Given the description of an element on the screen output the (x, y) to click on. 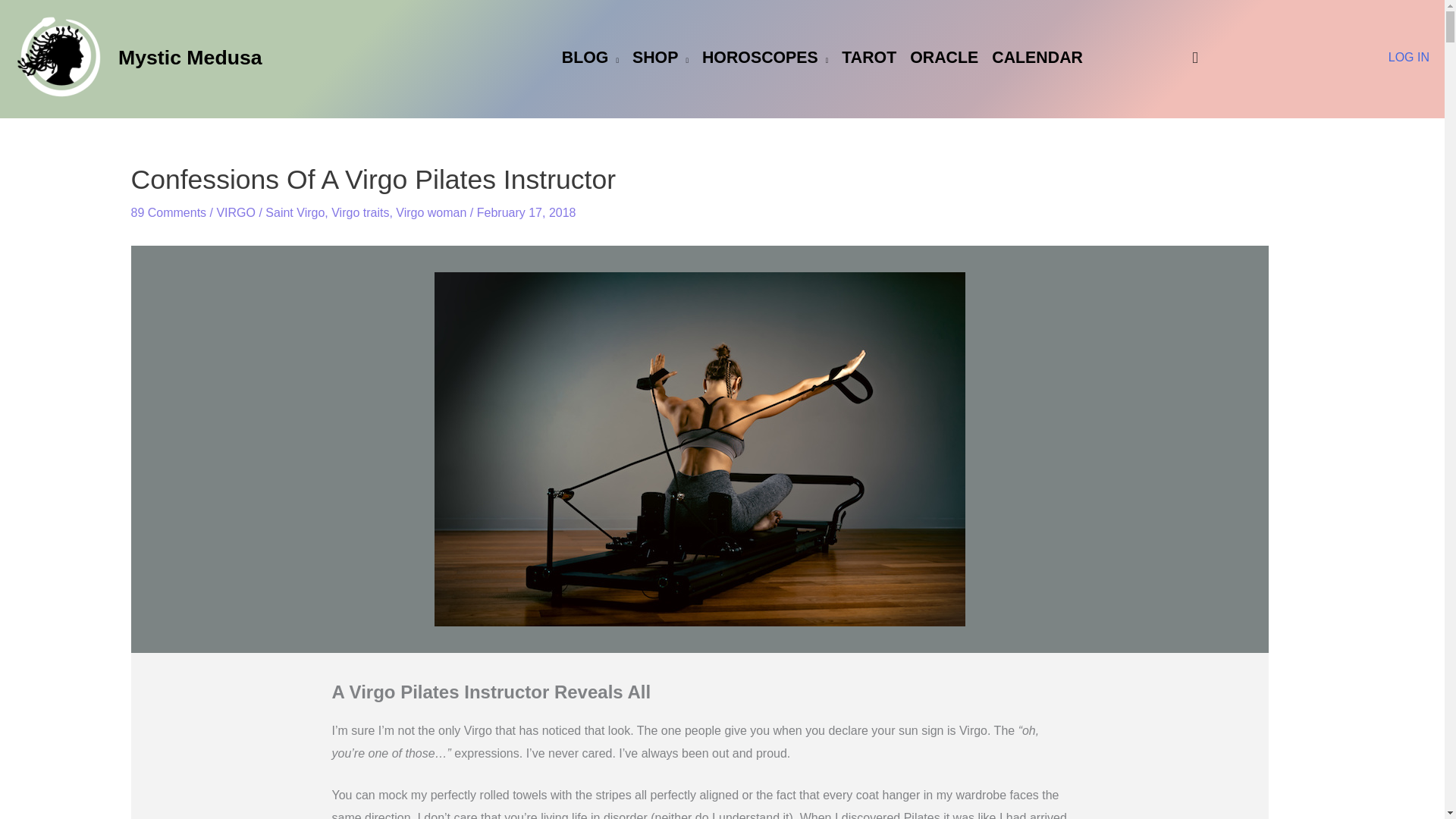
SHOP (660, 57)
LOG IN (1409, 56)
Saint Virgo (294, 212)
BLOG (590, 57)
ORACLE (943, 57)
VIRGO (235, 212)
HOROSCOPES (764, 57)
Virgo woman (430, 212)
CALENDAR (1037, 57)
TAROT (868, 57)
89 Comments (168, 212)
Virgo traits (359, 212)
Mystic Medusa (189, 56)
